Given the description of an element on the screen output the (x, y) to click on. 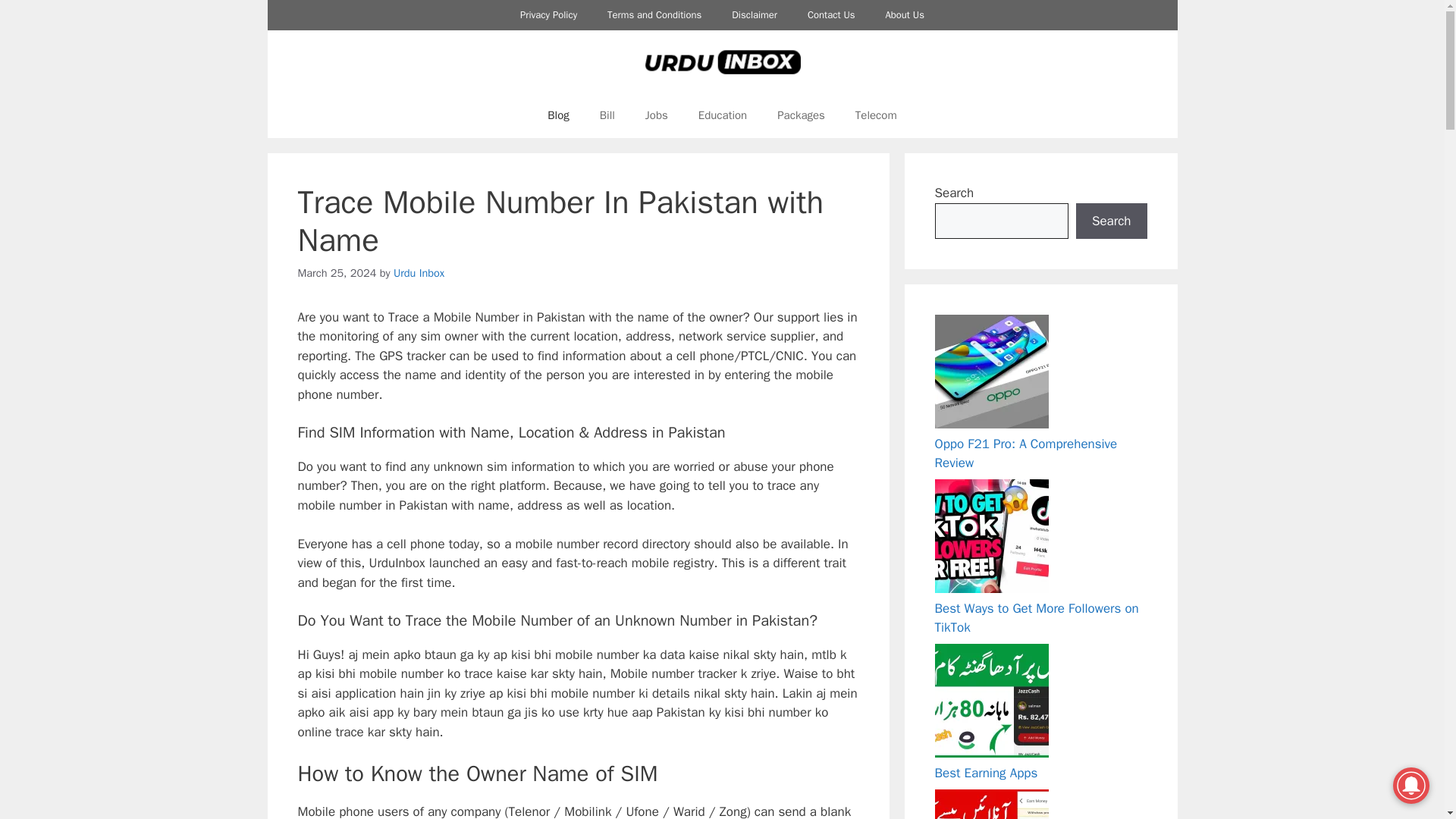
Disclaimer (754, 15)
Blog (557, 115)
About Us (904, 15)
View all posts by Urdu Inbox (418, 273)
Privacy Policy (548, 15)
Terms and Conditions (654, 15)
Urdu Inbox (418, 273)
Packages (800, 115)
Education (721, 115)
Jobs (656, 115)
Bill (607, 115)
Telecom (876, 115)
Contact Us (831, 15)
